Given the description of an element on the screen output the (x, y) to click on. 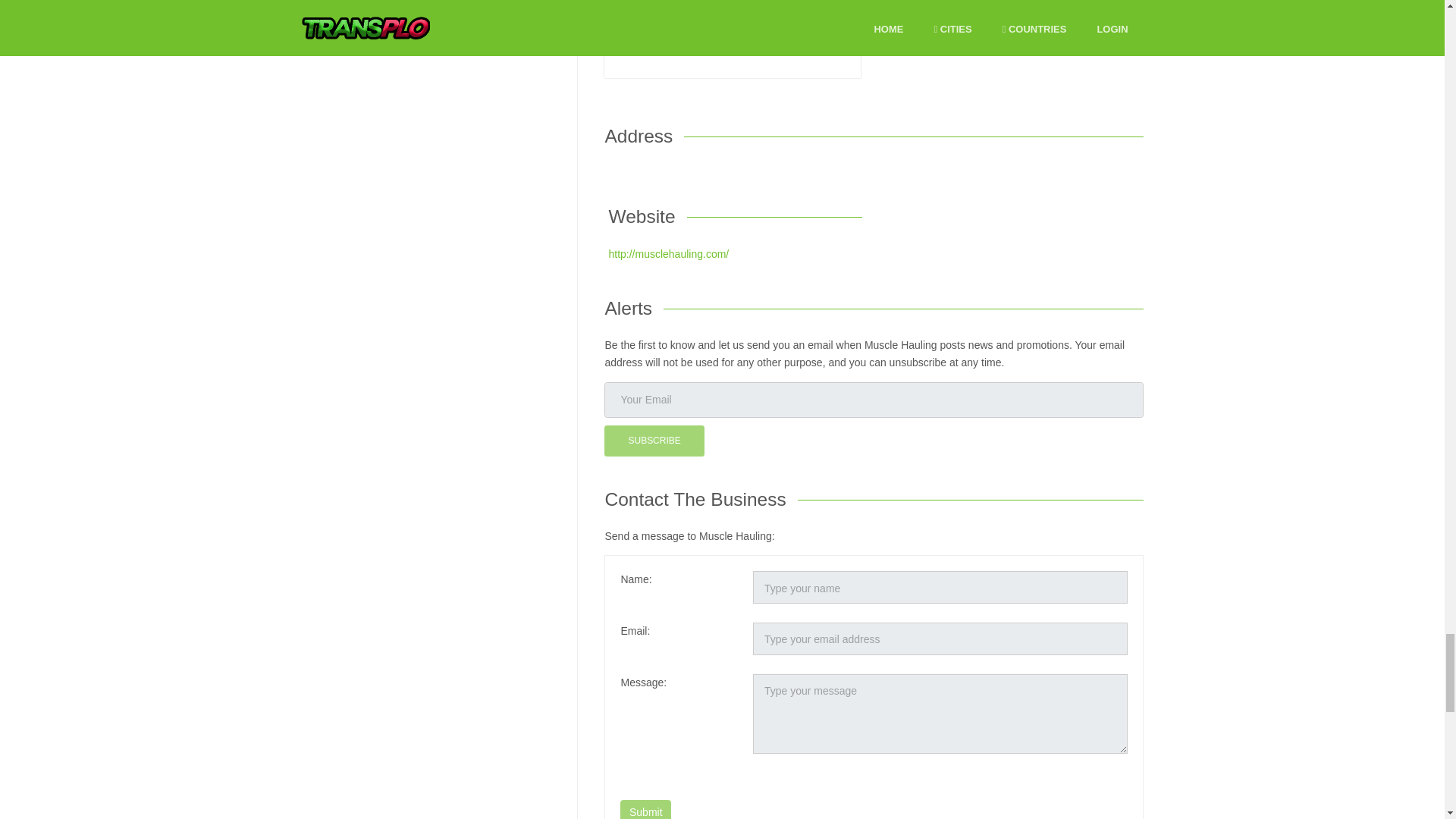
SUBSCRIBE (653, 440)
Submit (645, 809)
Submit (645, 809)
